Given the description of an element on the screen output the (x, y) to click on. 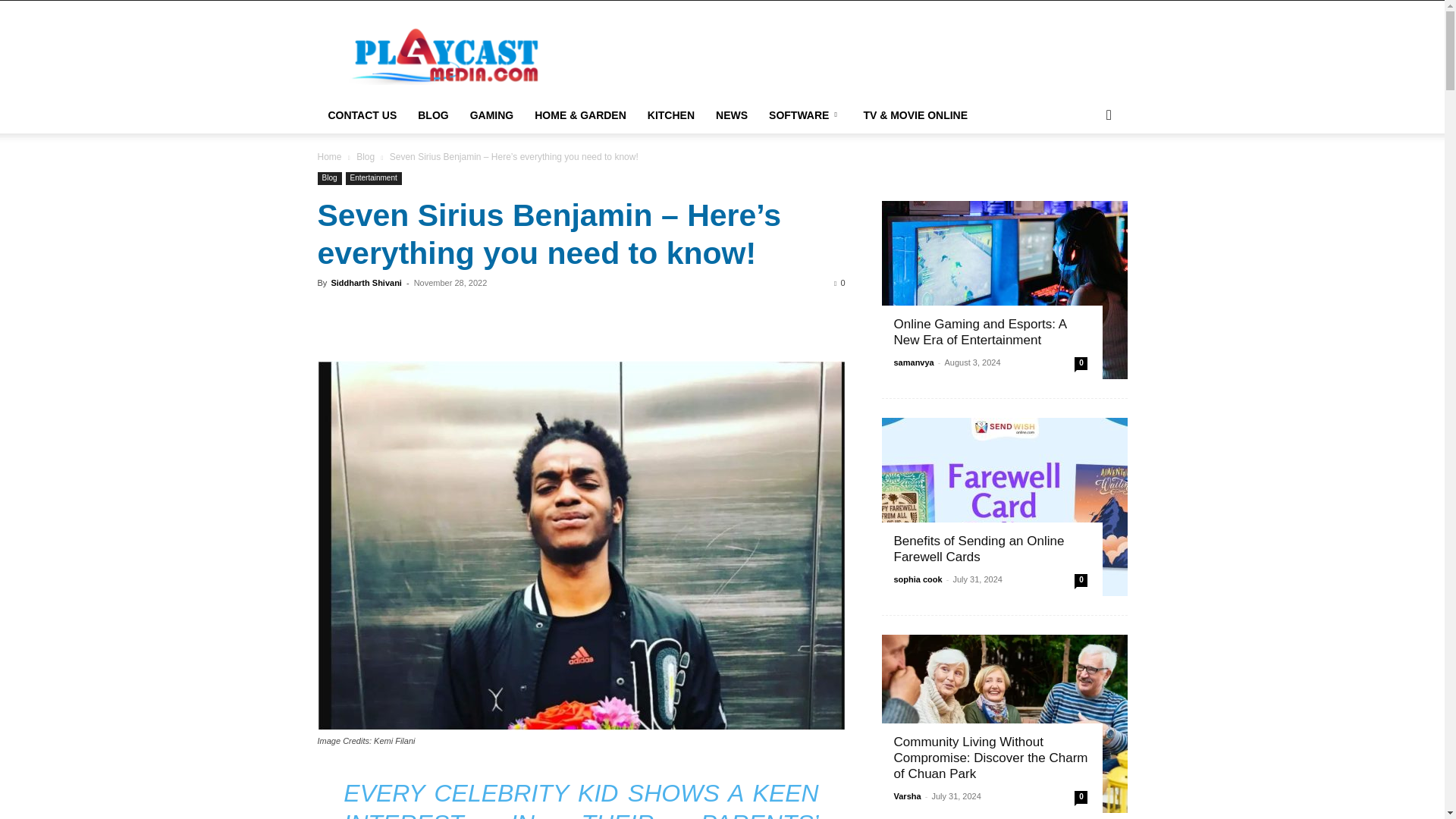
Siddharth Shivani (365, 282)
KITCHEN (670, 115)
CONTACT US (362, 115)
SOFTWARE (804, 115)
Blog (365, 156)
NEWS (731, 115)
Search (1085, 175)
BLOG (432, 115)
View all posts in Blog (365, 156)
Home (328, 156)
